Given the description of an element on the screen output the (x, y) to click on. 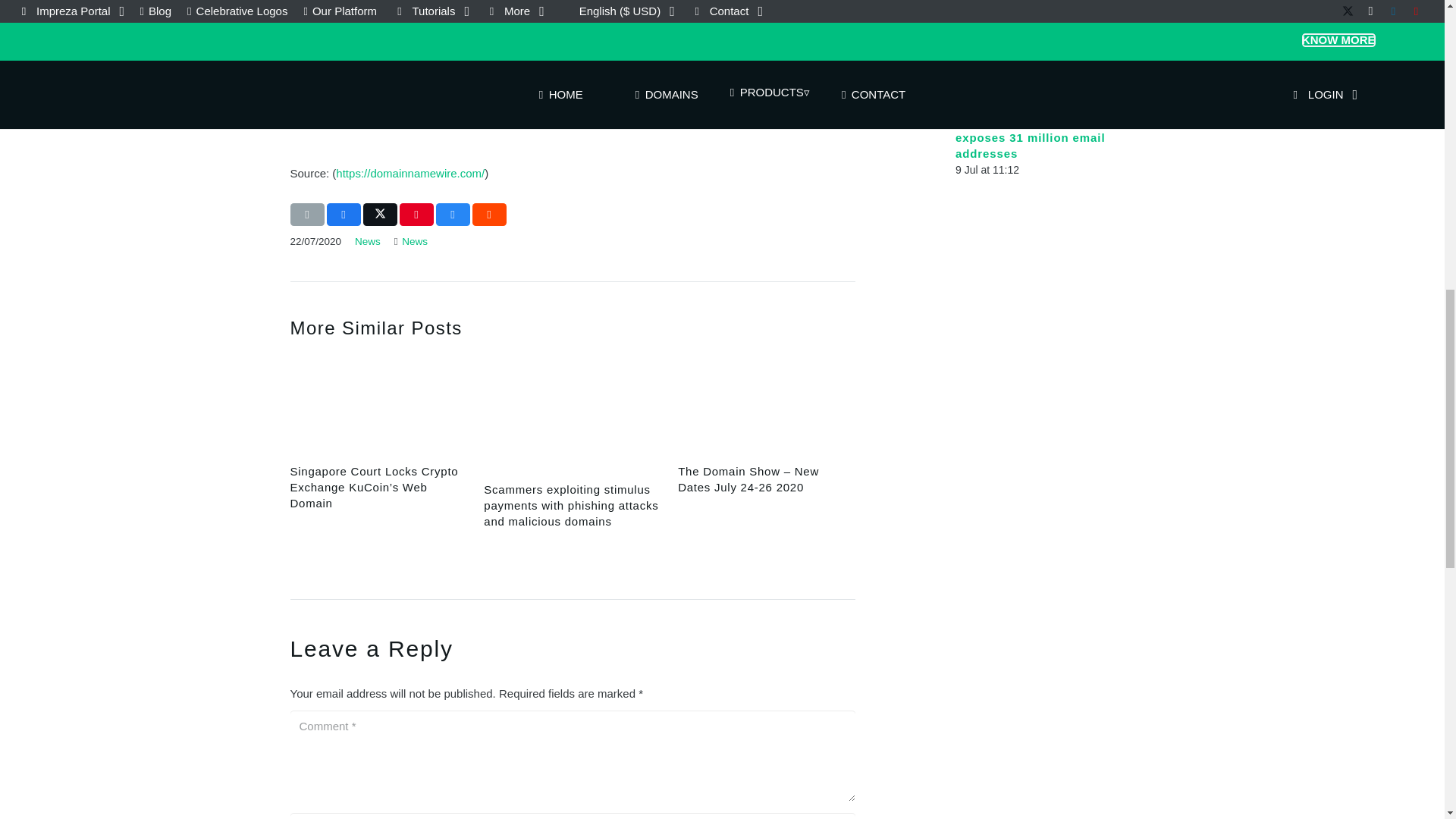
Email this (306, 214)
Share this (342, 214)
Share this (451, 214)
Pin this (415, 214)
Tweet this (379, 214)
Share this (488, 214)
